Given the description of an element on the screen output the (x, y) to click on. 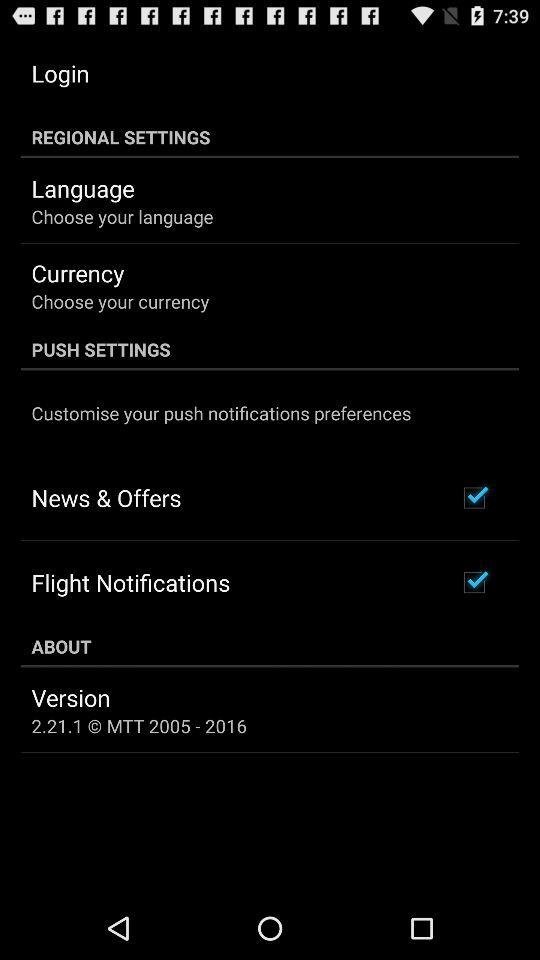
turn off item below the login app (270, 137)
